Given the description of an element on the screen output the (x, y) to click on. 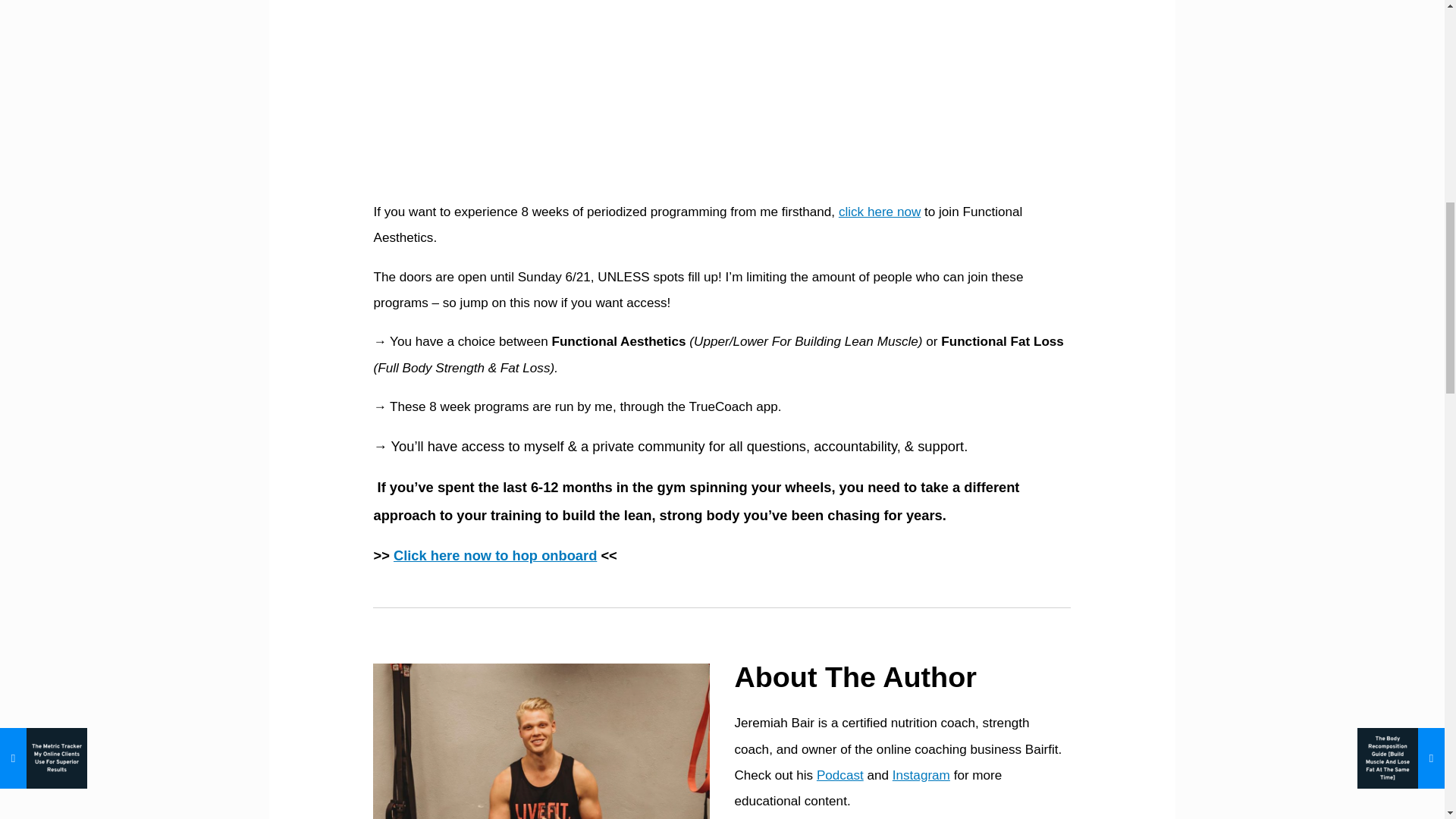
click here now (879, 211)
Podcast (839, 775)
Click here now to hop onboard (494, 555)
Instagram (921, 775)
